Given the description of an element on the screen output the (x, y) to click on. 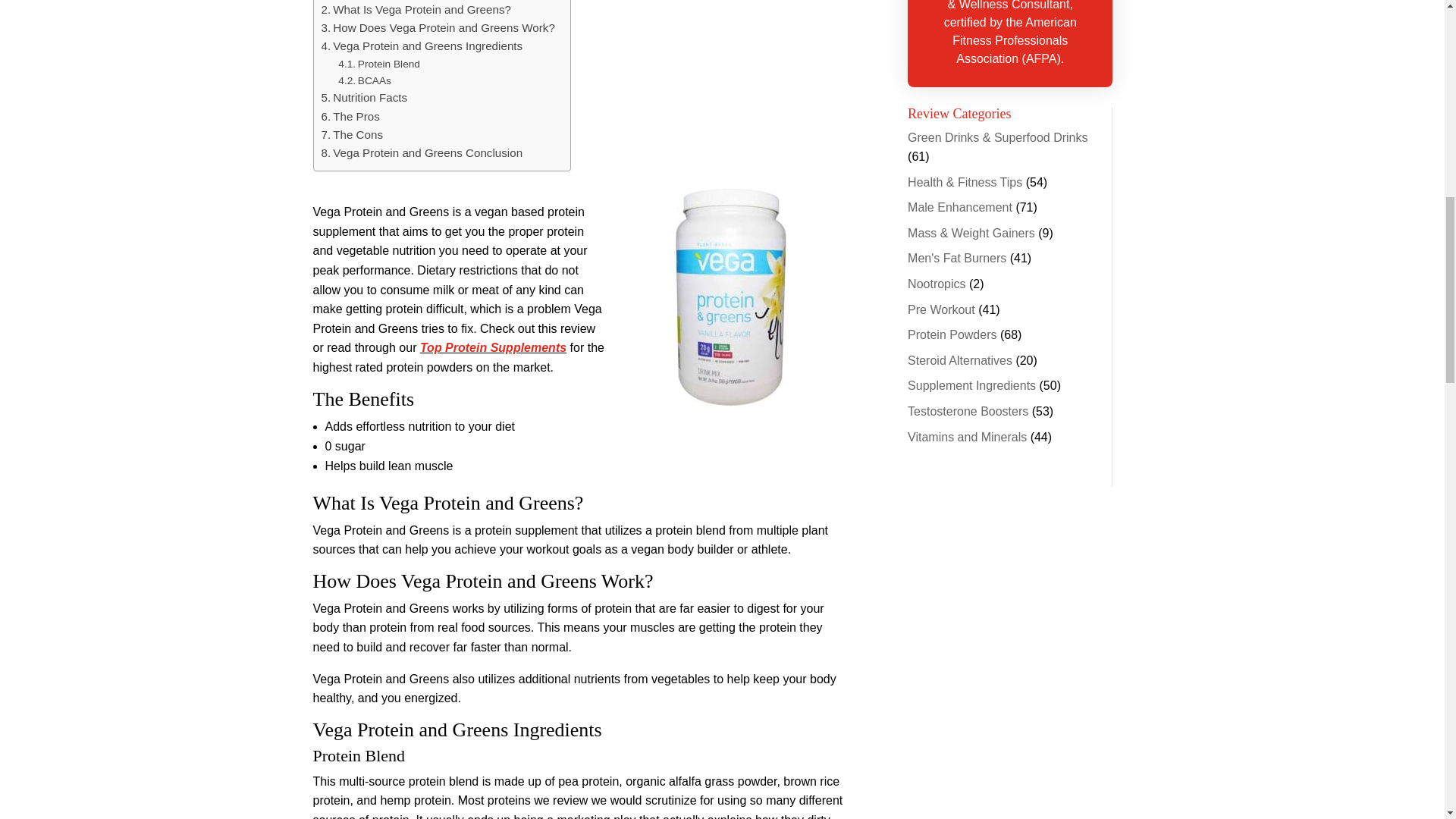
The Pros (350, 116)
What Is Vega Protein and Greens? (416, 9)
BCAAs (364, 80)
Vega Protein and Greens Conclusion (421, 153)
Protein Blend (378, 64)
Vega Protein and Greens Ingredients (421, 45)
Nutrition Facts (364, 97)
How Does Vega Protein and Greens Work? (437, 27)
The Cons (352, 135)
Vega Protein and Greens Ingredients (421, 45)
The Cons (352, 135)
How Does Vega Protein and Greens Work? (437, 27)
Vega Protein and Greens Conclusion (421, 153)
The Pros (350, 116)
Nutrition Facts (364, 97)
